Given the description of an element on the screen output the (x, y) to click on. 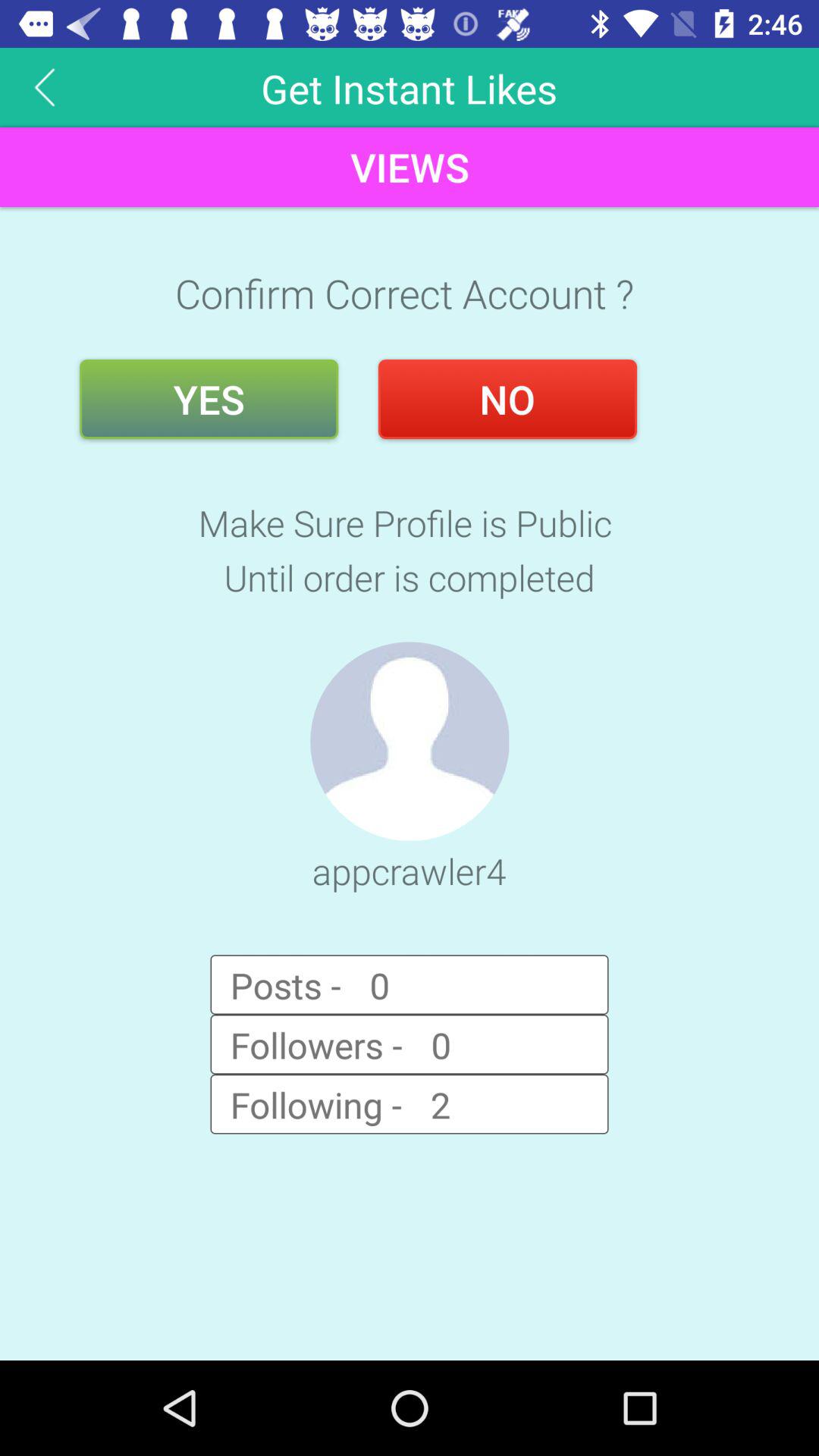
turn on the item below confirm correct account ?  item (208, 399)
